Given the description of an element on the screen output the (x, y) to click on. 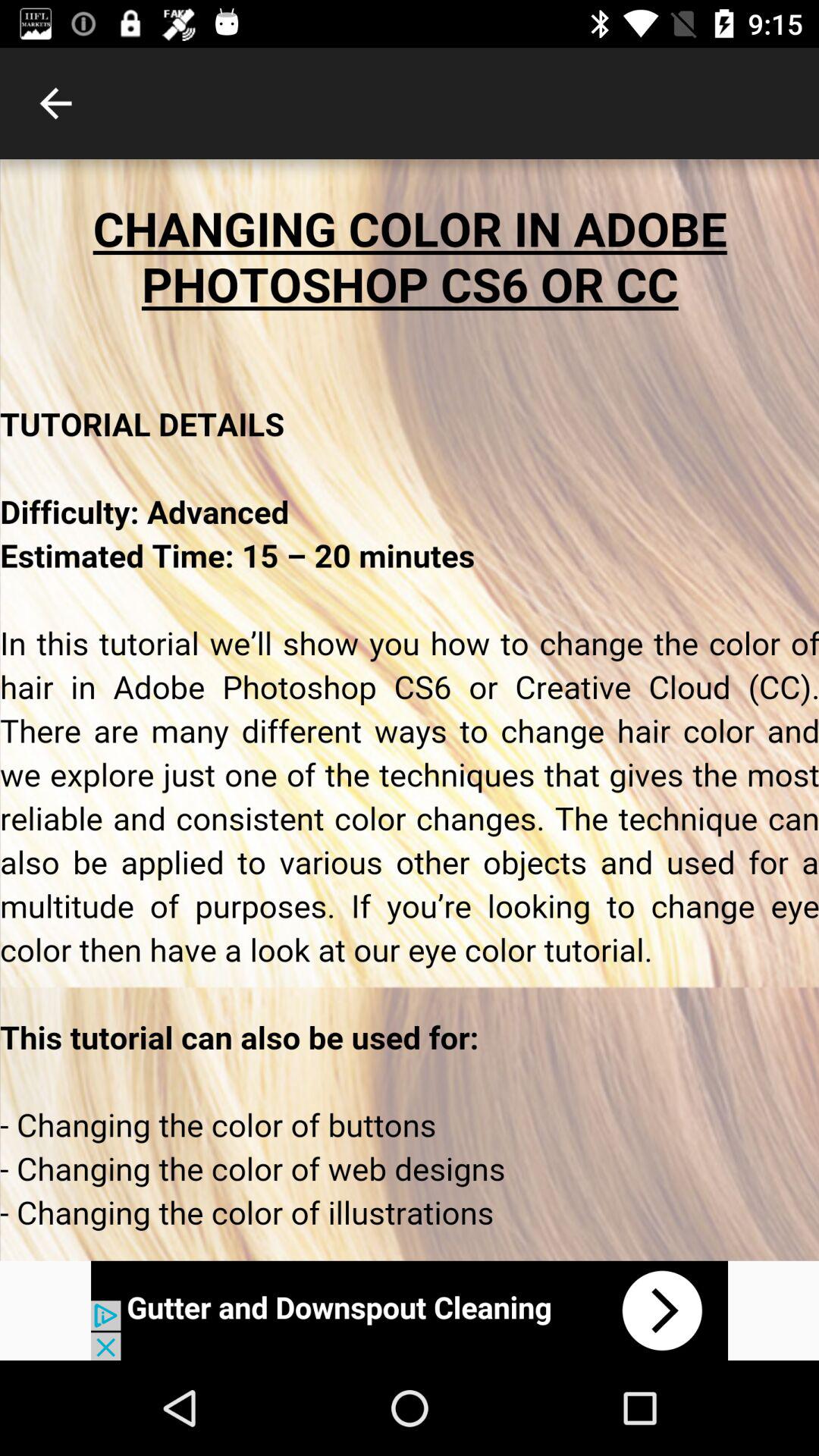
show the advertisement (409, 1310)
